Given the description of an element on the screen output the (x, y) to click on. 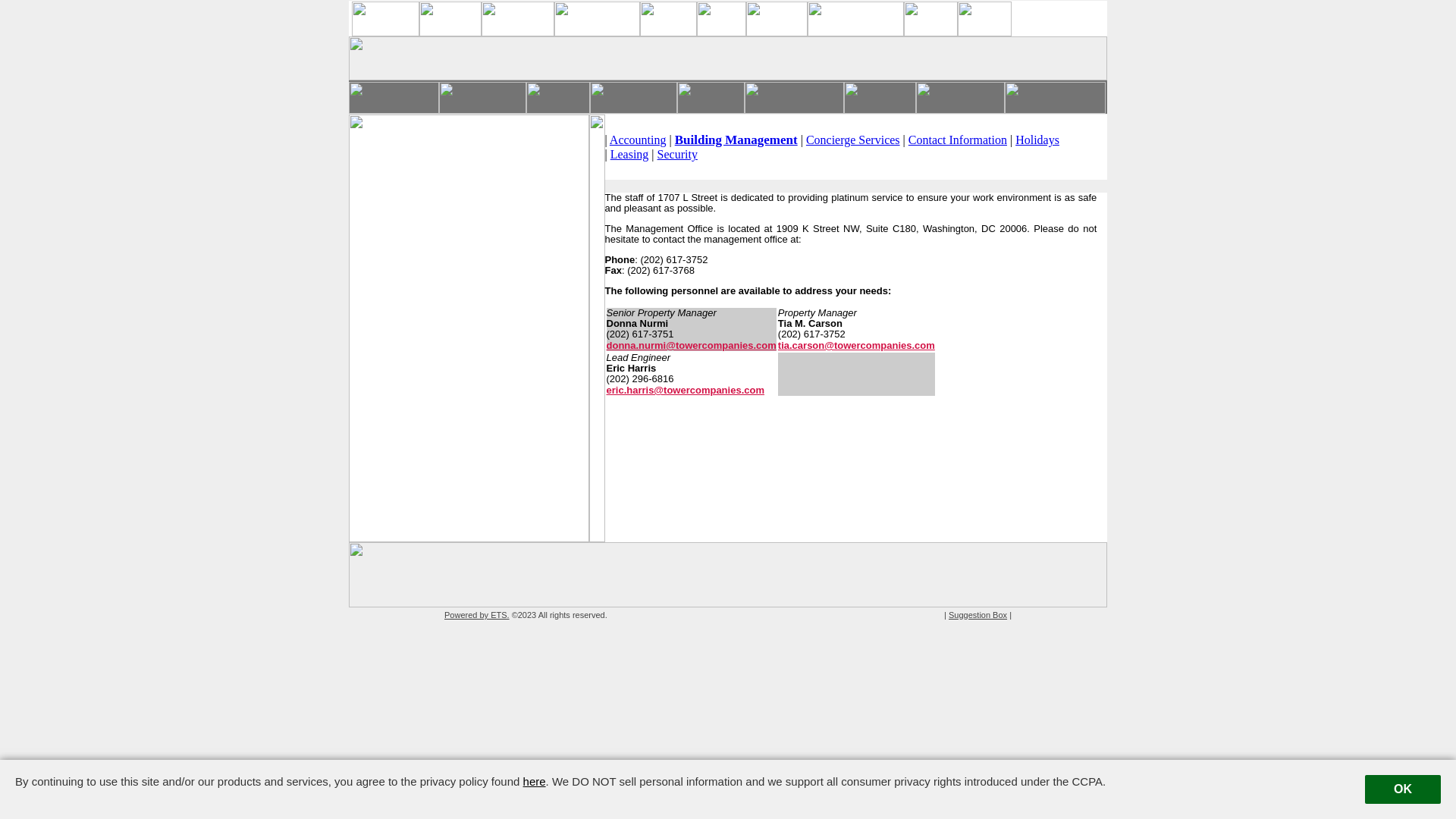
donna.nurmi@towercompanies.com Element type: text (691, 345)
Suggestion Box Element type: text (977, 614)
Contact Information Element type: text (957, 139)
Powered by ETS. Element type: text (476, 614)
here Element type: text (534, 781)
tia.carson@towercompanies.com Element type: text (856, 345)
Holidays Element type: text (1037, 139)
Accounting Element type: text (637, 139)
eric.harris@towercompanies.com Element type: text (685, 389)
Concierge Services Element type: text (853, 139)
Building Management Element type: text (735, 139)
Security Element type: text (677, 153)
Leasing Element type: text (629, 153)
